Given the description of an element on the screen output the (x, y) to click on. 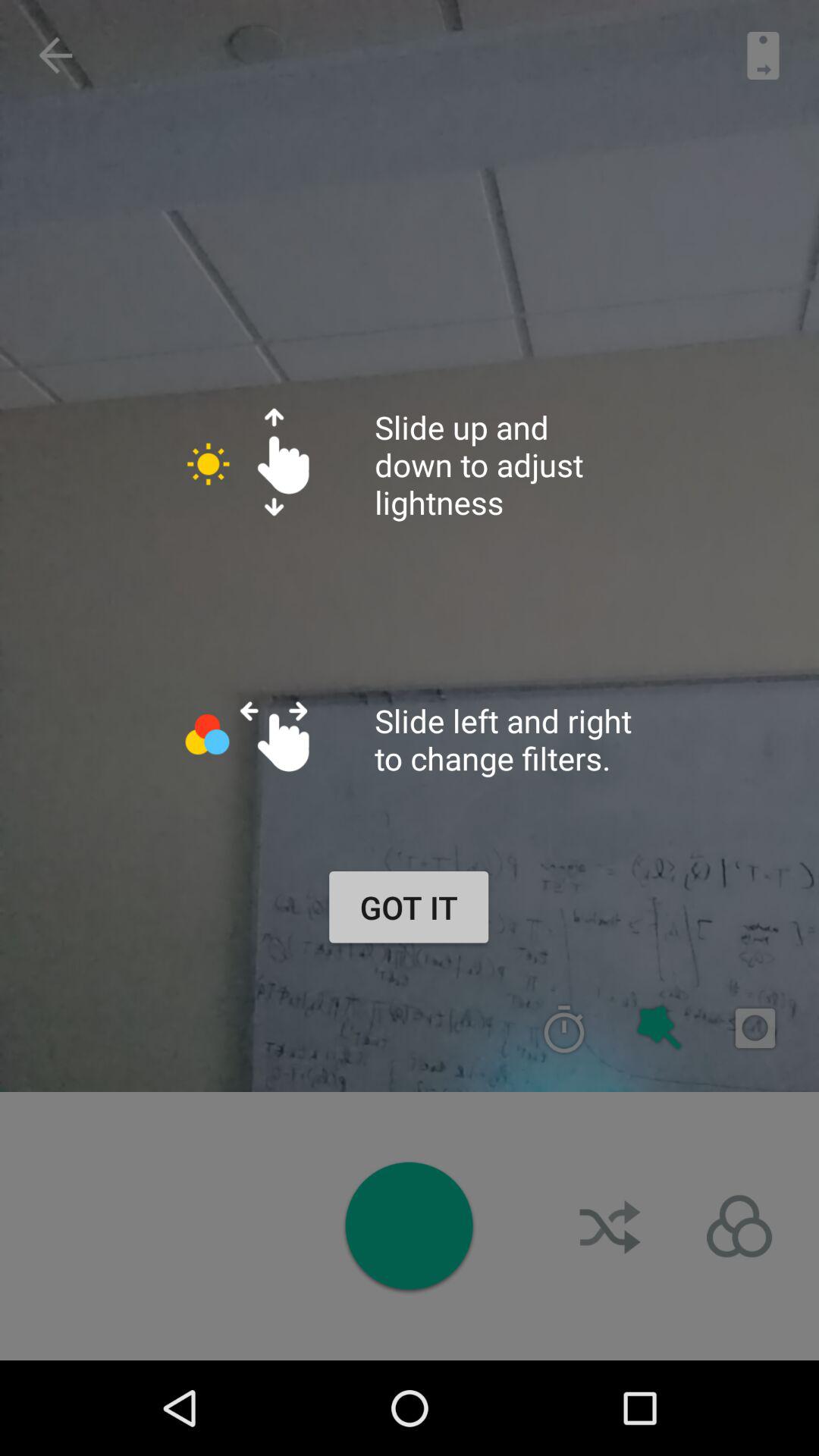
correct the option in seen (563, 1028)
